Given the description of an element on the screen output the (x, y) to click on. 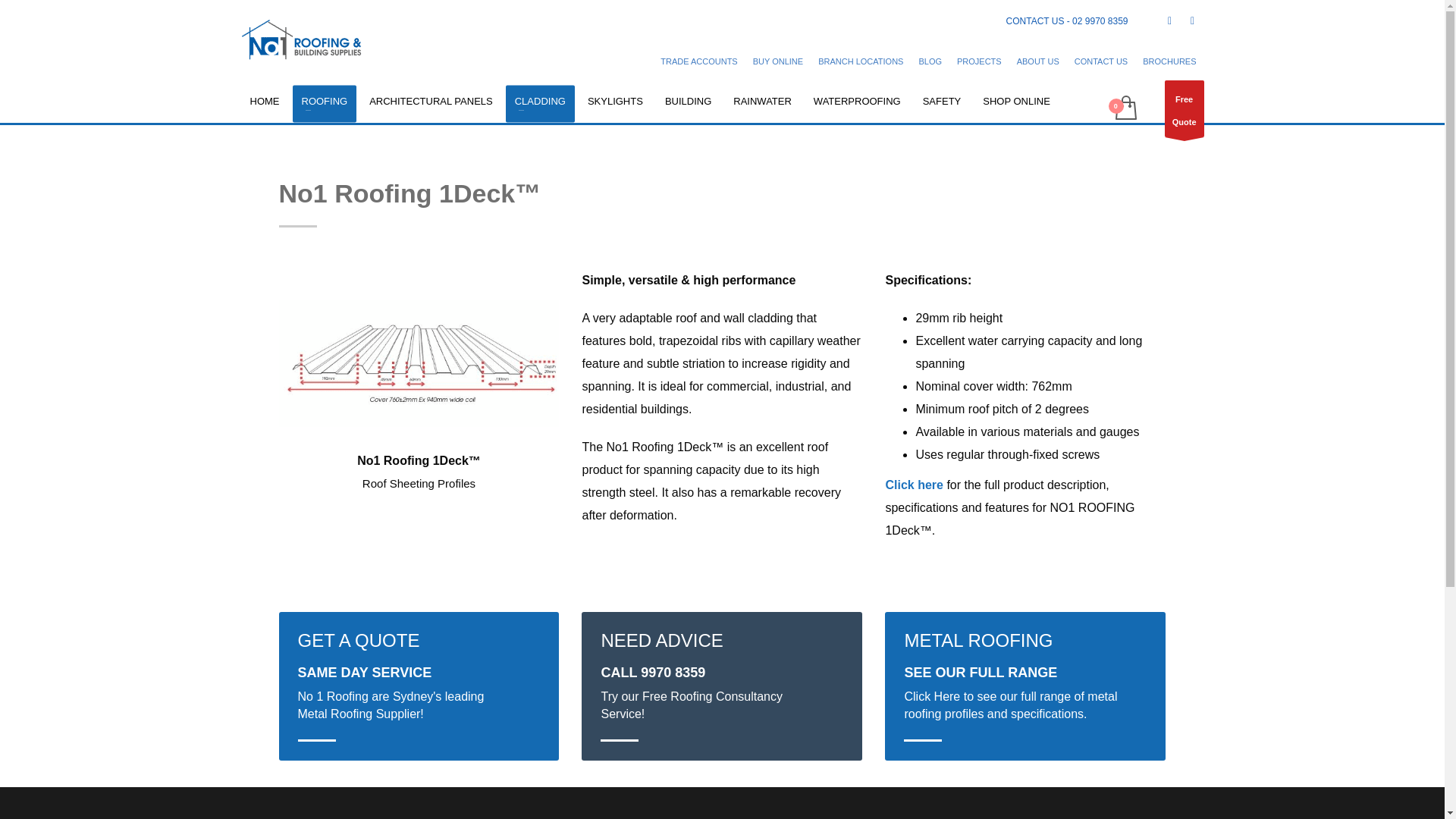
Instagram (1192, 20)
ROOFING (324, 101)
Metal Roofing (324, 101)
TRADE ACCOUNTS (698, 61)
Facebook (1169, 20)
BLOG (930, 61)
BROCHURES (1168, 61)
HOME (264, 101)
CONTACT US (1101, 61)
ABOUT US (1037, 61)
BUY ONLINE (777, 61)
PROJECTS (978, 61)
BRANCH LOCATIONS (860, 61)
